Given the description of an element on the screen output the (x, y) to click on. 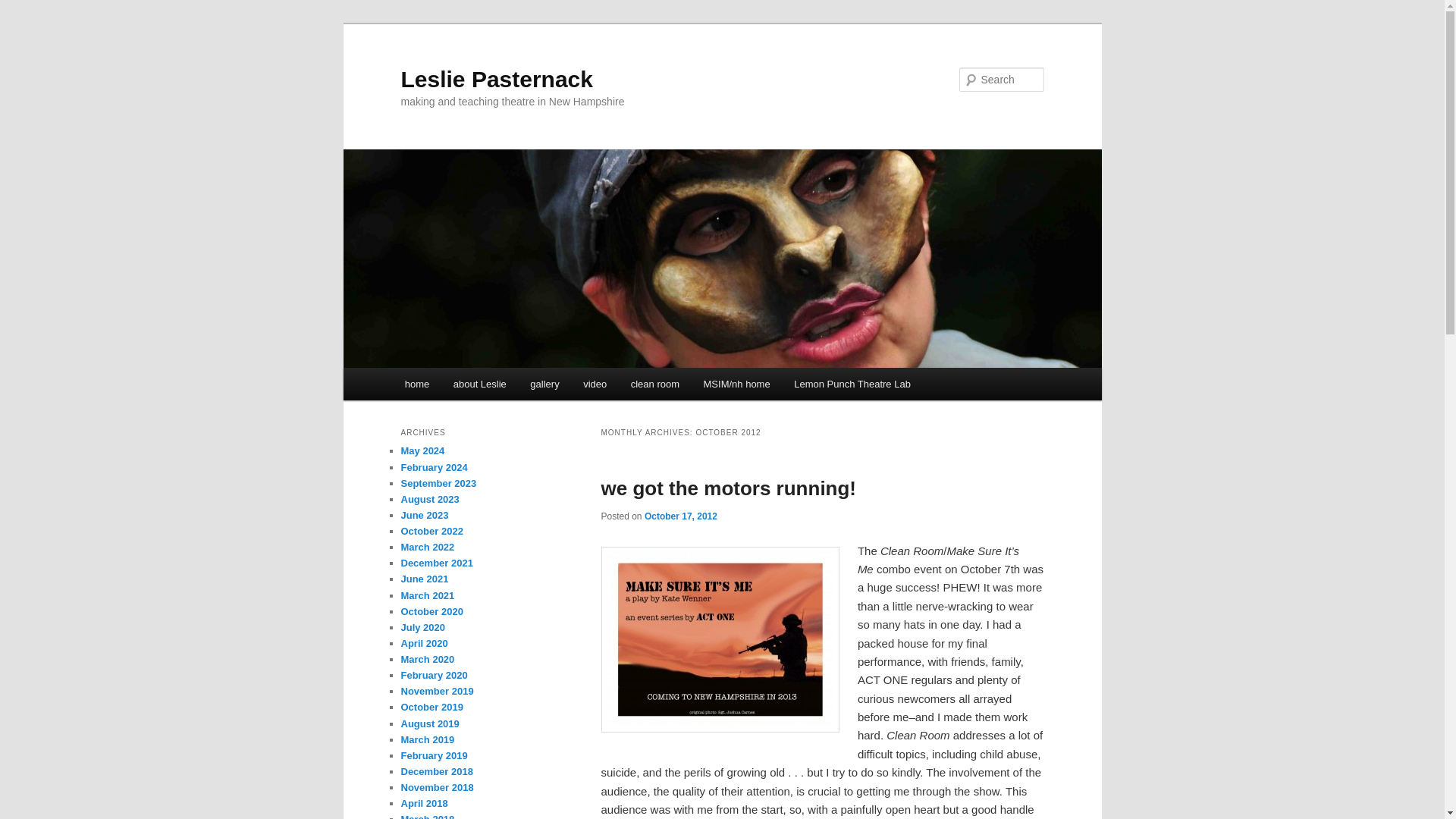
Lemon Punch Theatre Lab (851, 383)
about Leslie (479, 383)
June 2021 (424, 578)
clean room (654, 383)
October 2020 (431, 611)
July 2020 (422, 627)
December 2021 (435, 562)
gallery (545, 383)
June 2023 (424, 514)
Leslie Pasternack (496, 78)
September 2023 (438, 482)
April 2020 (423, 643)
video (594, 383)
August 2023 (429, 499)
